Given the description of an element on the screen output the (x, y) to click on. 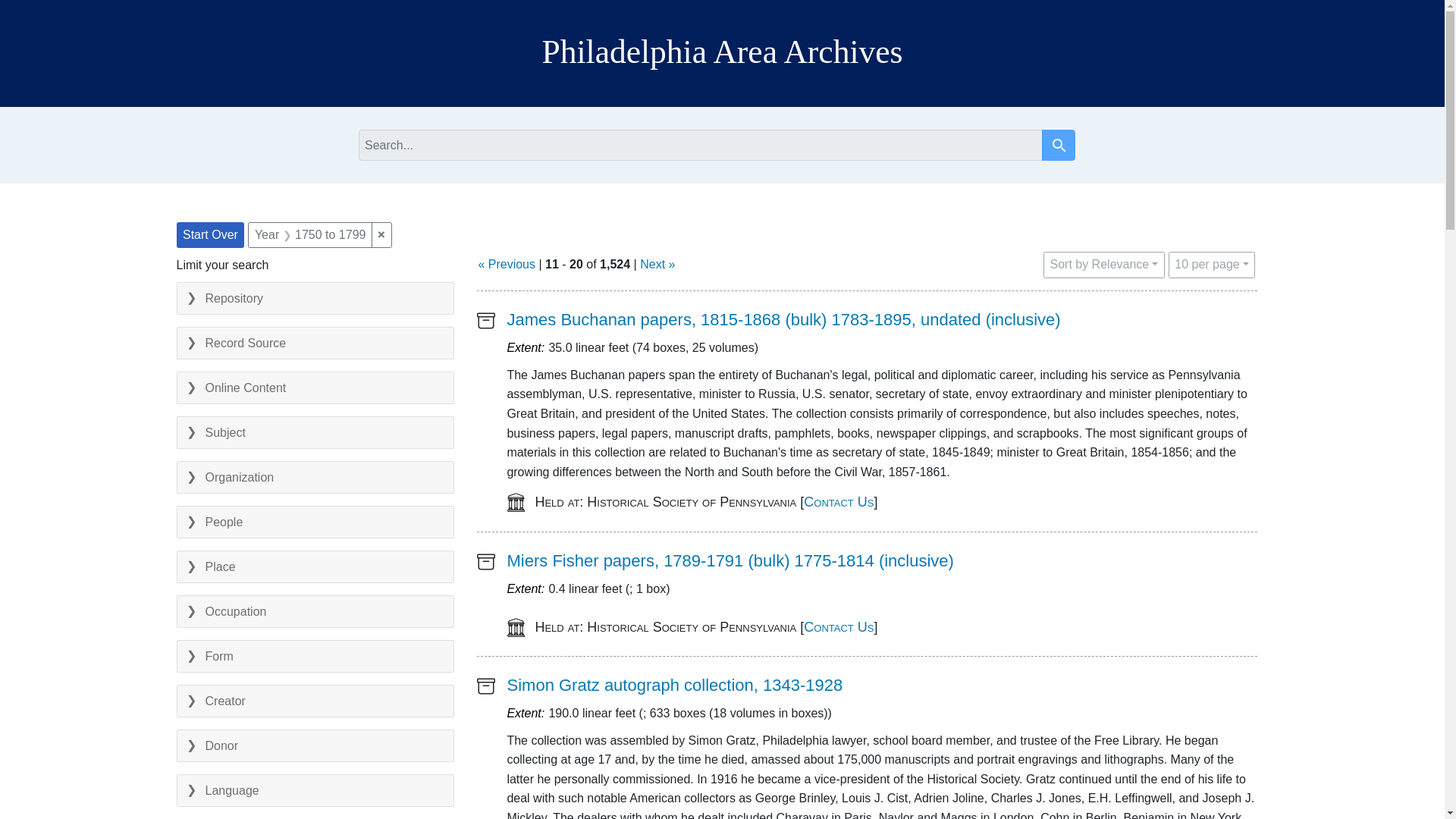
Skip to search (33, 7)
Search (1058, 145)
Contact Us (838, 501)
Sort by Relevance (1103, 264)
Philadelphia Area Archives (1058, 144)
Simon Gratz autograph collection, 1343-1928 (1212, 264)
Contact Us (721, 51)
Skip to main content (674, 684)
Skip to first result (838, 626)
1750 to 1799 (34, 7)
Start Over (29, 7)
